Given the description of an element on the screen output the (x, y) to click on. 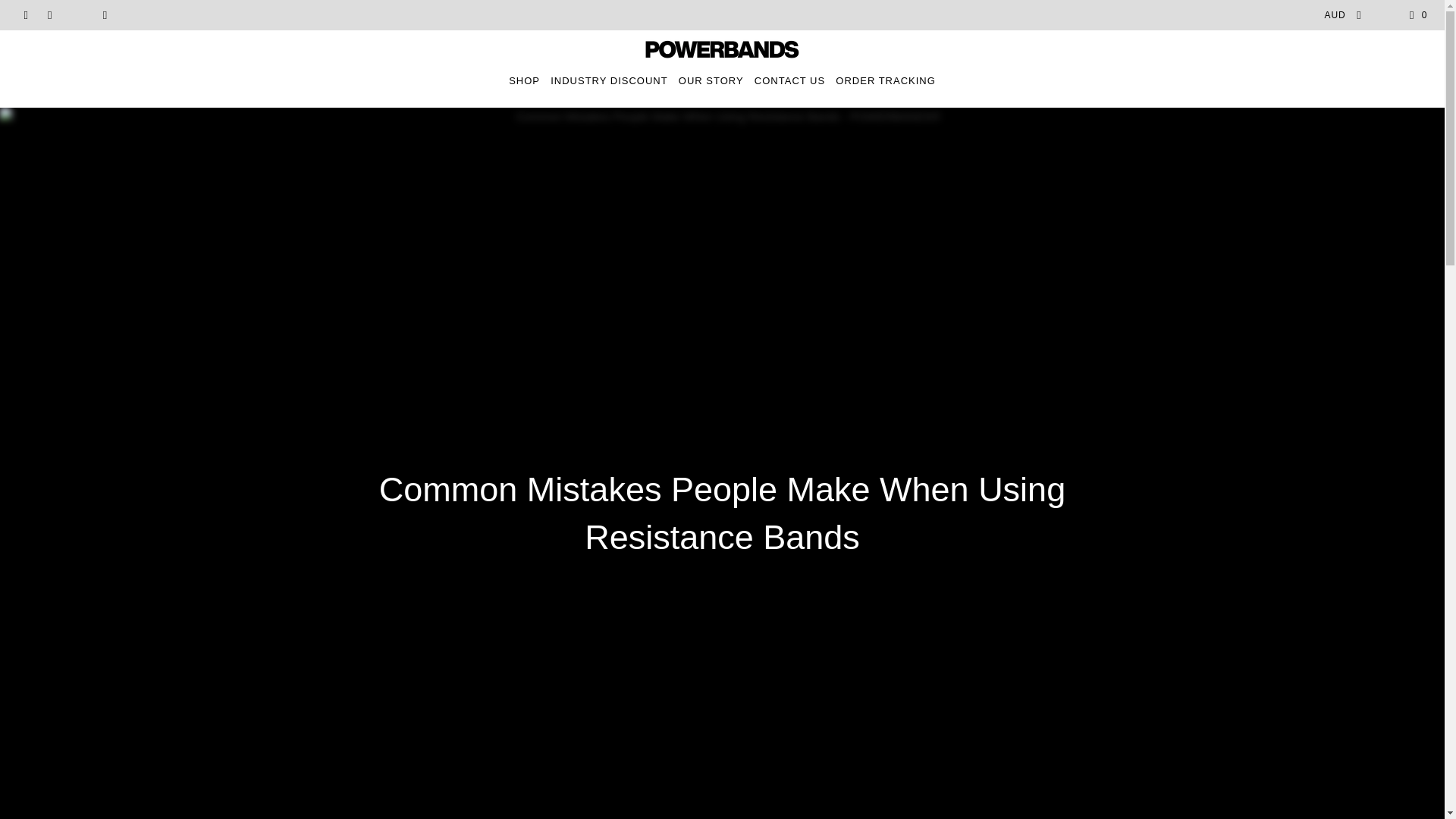
OUR STORY (711, 80)
CONTACT US (789, 80)
ORDER TRACKING (885, 80)
INDUSTRY DISCOUNT (608, 80)
AUD (1338, 15)
